Given the description of an element on the screen output the (x, y) to click on. 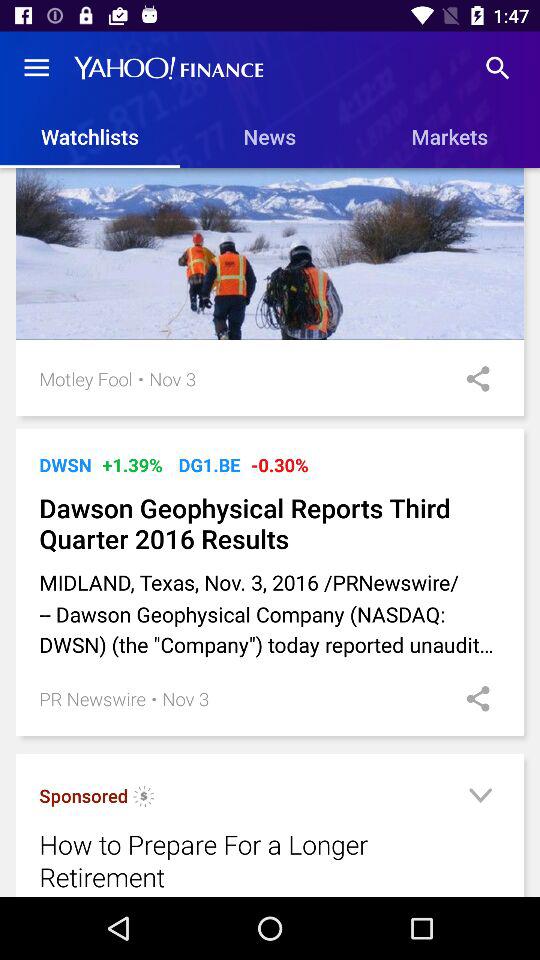
launch item to the right of pr newswire item (154, 698)
